Given the description of an element on the screen output the (x, y) to click on. 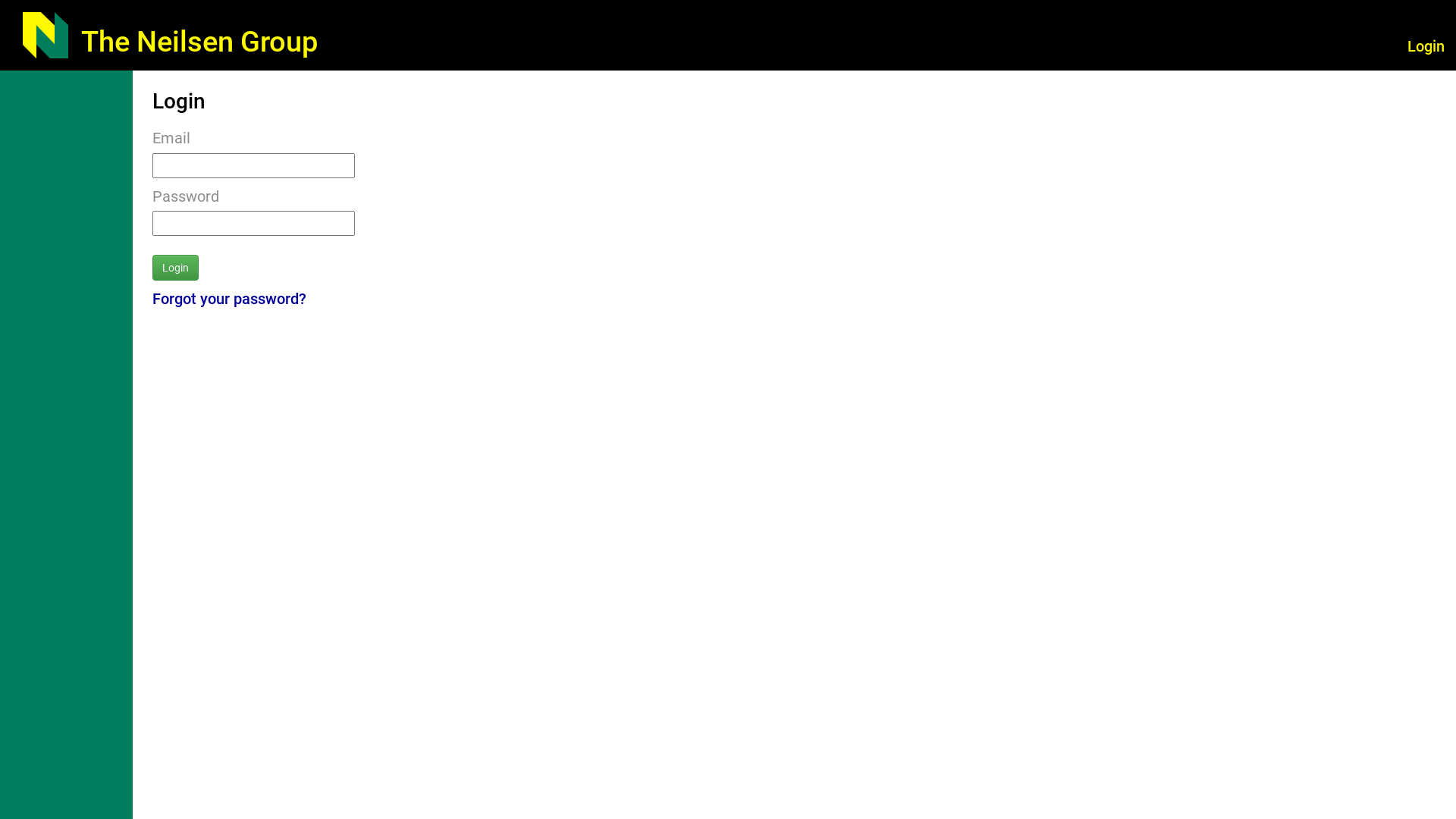
Forgot your password? Element type: text (229, 298)
Login Element type: text (175, 267)
Login Element type: text (1425, 46)
